Given the description of an element on the screen output the (x, y) to click on. 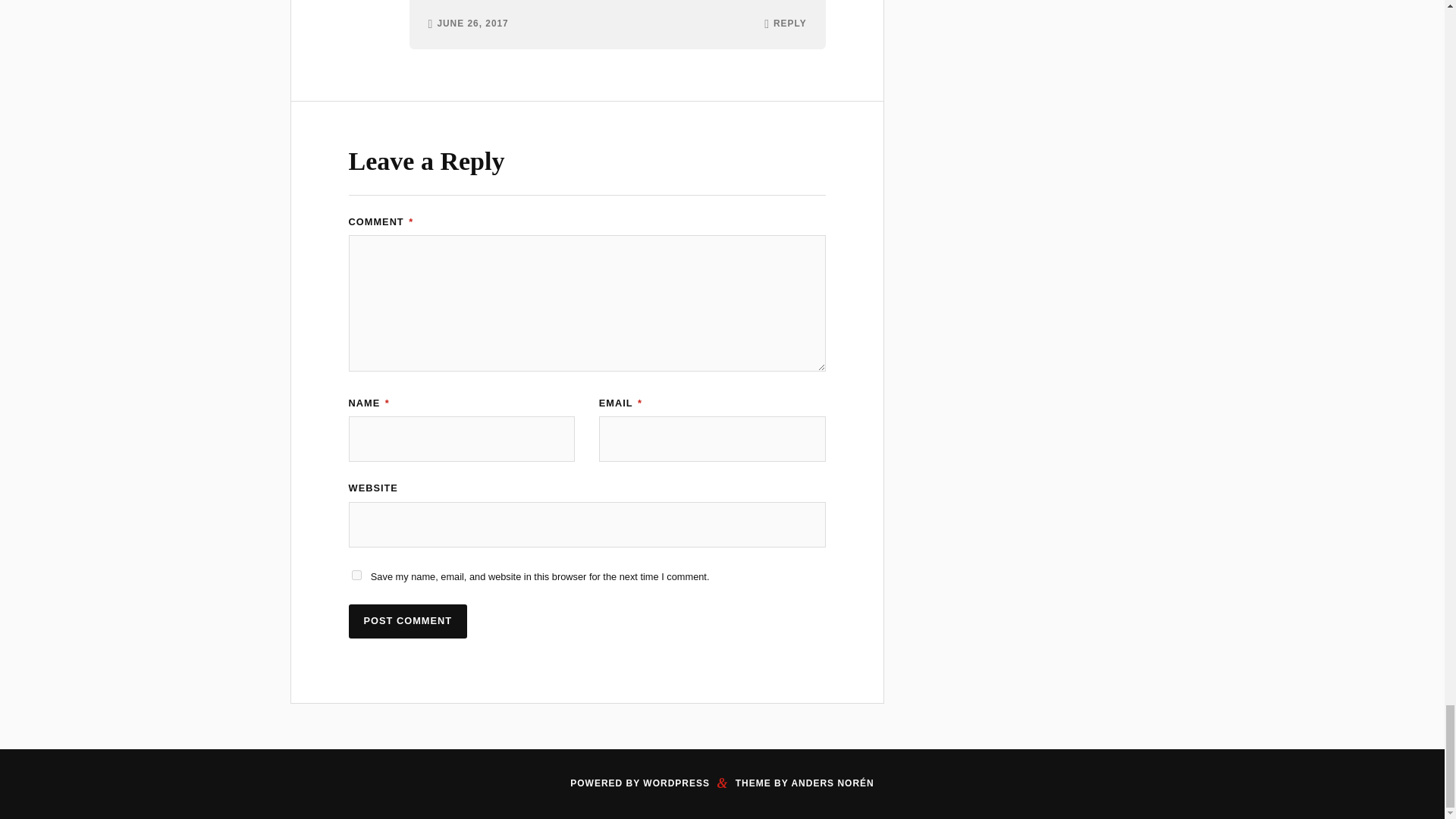
Post Comment (408, 621)
Post Comment (408, 621)
JUNE 26, 2017 (472, 23)
yes (356, 574)
REPLY (789, 23)
